Given the description of an element on the screen output the (x, y) to click on. 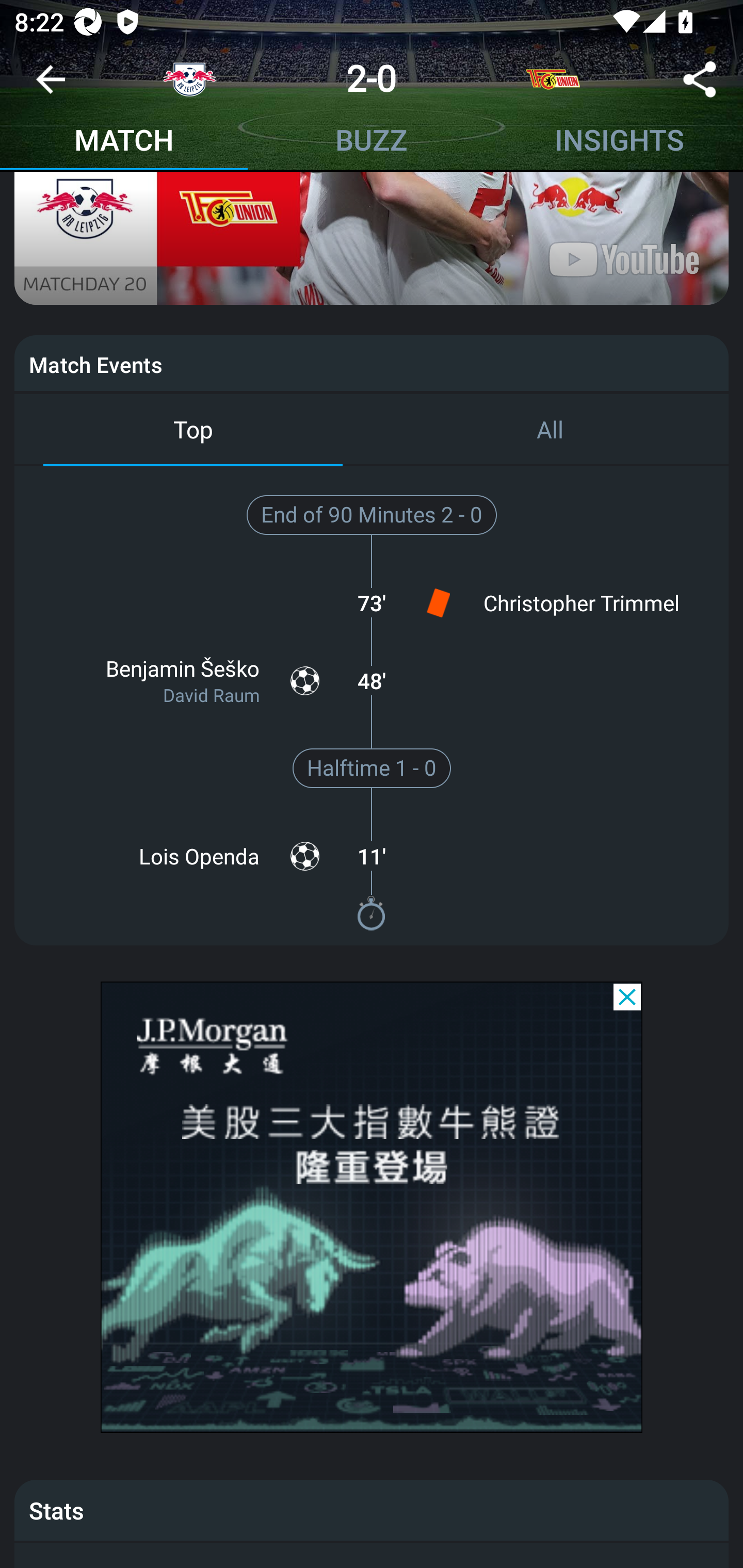
Navigate up (50, 86)
Share (699, 82)
Play (372, 103)
MATCH (123, 142)
INSIGHTS (619, 142)
All (549, 429)
73' Christopher Trimmel (371, 602)
Christopher Trimmel (562, 602)
Benjamin Šeško David Raum 48' (371, 680)
Benjamin Šeško David Raum (180, 680)
Lois Openda 11' (371, 855)
Lois Openda (180, 855)
index javascript:window.open(window (371, 1207)
